Given the description of an element on the screen output the (x, y) to click on. 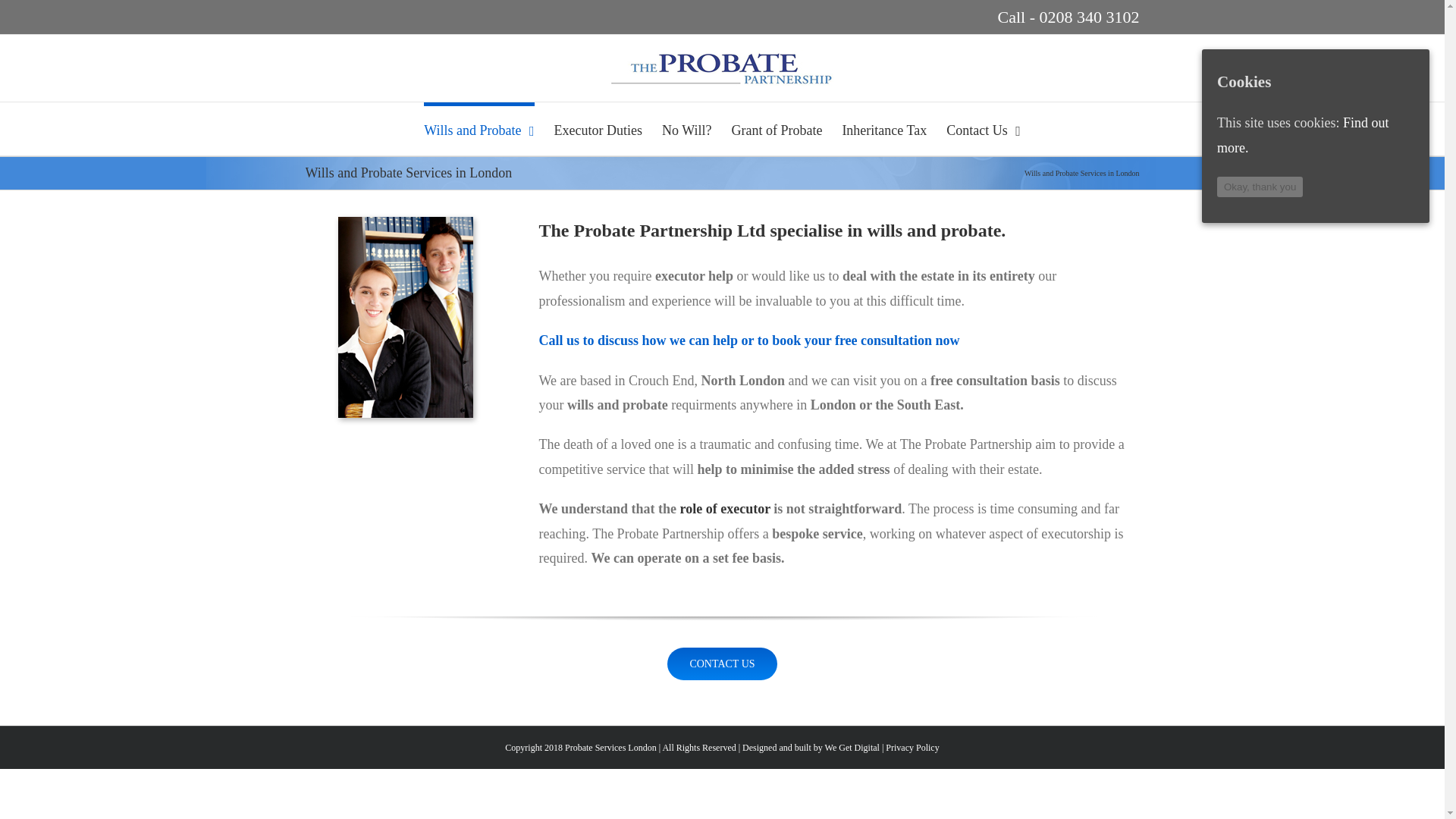
Privacy Policy (912, 747)
Okay, thank you (1260, 186)
Contact Us (983, 128)
role of executor (724, 508)
Grant of Probate (776, 128)
Find out more. (1303, 134)
Wills and Probate (478, 128)
CONTACT US (721, 647)
We Get Digital (852, 747)
Inheritance Tax (883, 128)
CONTACT US (721, 663)
Executor Duties (597, 128)
No Will? (686, 128)
